Given the description of an element on the screen output the (x, y) to click on. 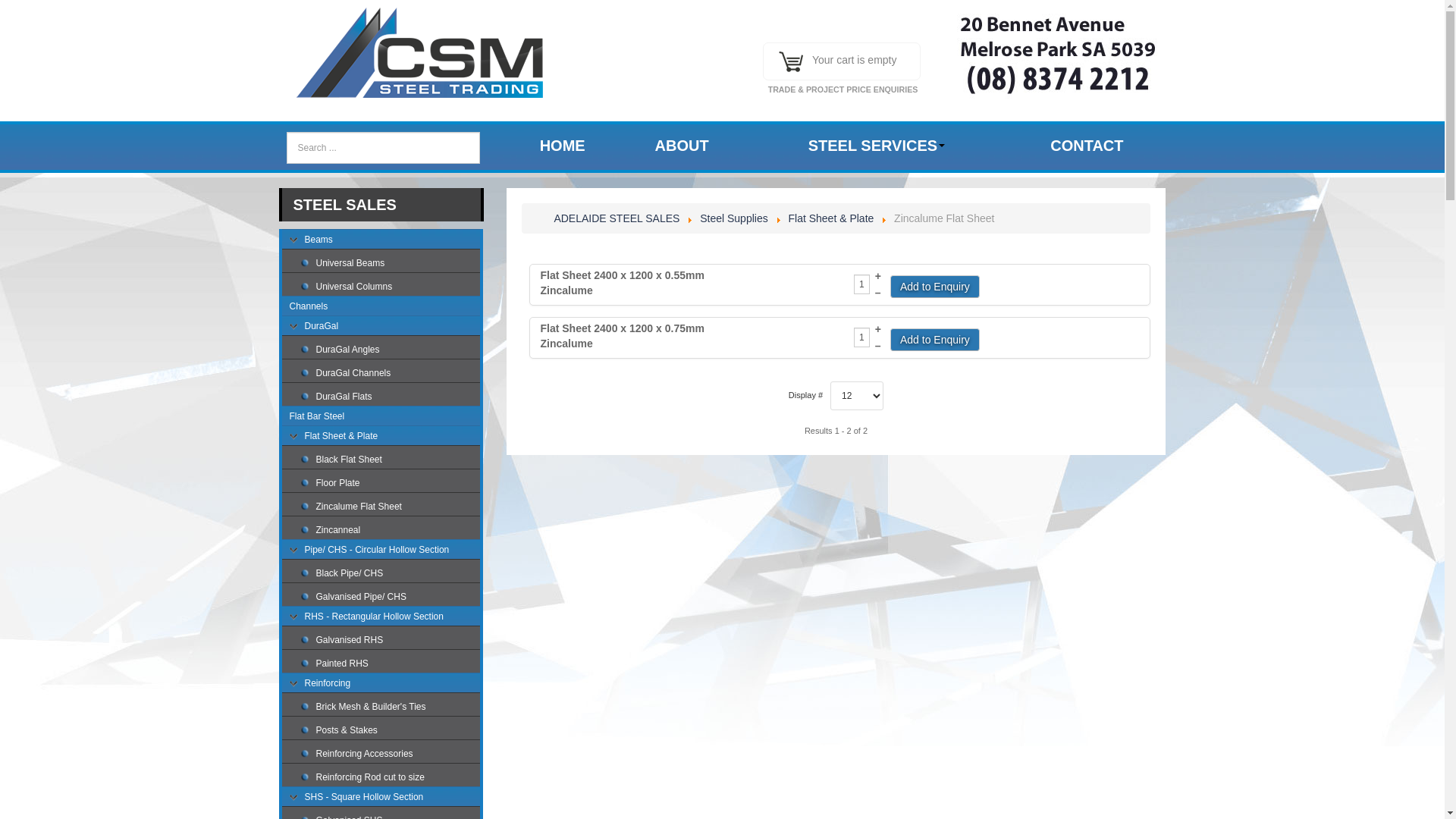
Posts & Stakes Element type: text (389, 731)
Reinforcing Element type: text (381, 684)
CONTACT Element type: text (1086, 145)
Black Flat Sheet Element type: text (389, 460)
Floor Plate Element type: text (389, 484)
Zincalume Flat Sheet Element type: text (389, 507)
Black Pipe/ CHS Element type: text (389, 574)
DuraGal Angles Element type: text (389, 350)
Flat Sheet & Plate Element type: text (381, 437)
Flat Bar Steel Element type: text (381, 417)
Flat Sheet 2400 x 1200 x 0.75mm Zincalume Element type: text (628, 335)
ADELAIDE STEEL SALES Element type: text (616, 218)
Steel Supplies Element type: text (733, 218)
Galvanised Pipe/ CHS Element type: text (389, 597)
TRADE & PROJECT PRICE ENQUIRIES       Element type: text (849, 89)
+ Element type: text (878, 329)
Painted RHS Element type: text (389, 664)
Pipe/ CHS - Circular Hollow Section Element type: text (381, 550)
+ Element type: text (878, 275)
Beams Element type: text (381, 240)
Reinforcing Rod cut to size Element type: text (389, 778)
Zincanneal Element type: text (389, 531)
ABOUT Element type: text (681, 145)
Galvanised RHS Element type: text (389, 641)
STEEL SERVICES Element type: text (875, 145)
HOME Element type: text (562, 145)
DuraGal Element type: text (381, 327)
Universal Beams Element type: text (389, 264)
SHS - Square Hollow Section Element type: text (381, 798)
Brick Mesh & Builder's Ties Element type: text (389, 707)
DuraGal Channels Element type: text (389, 374)
Universal Columns Element type: text (389, 287)
Add to Enquiry Element type: text (934, 338)
Reinforcing Accessories Element type: text (389, 754)
Channels Element type: text (381, 307)
RHS - Rectangular Hollow Section Element type: text (381, 617)
DuraGal Flats Element type: text (389, 397)
Flat Sheet & Plate Element type: text (831, 218)
Add to Enquiry Element type: text (934, 285)
Flat Sheet 2400 x 1200 x 0.55mm Zincalume Element type: text (628, 282)
